Given the description of an element on the screen output the (x, y) to click on. 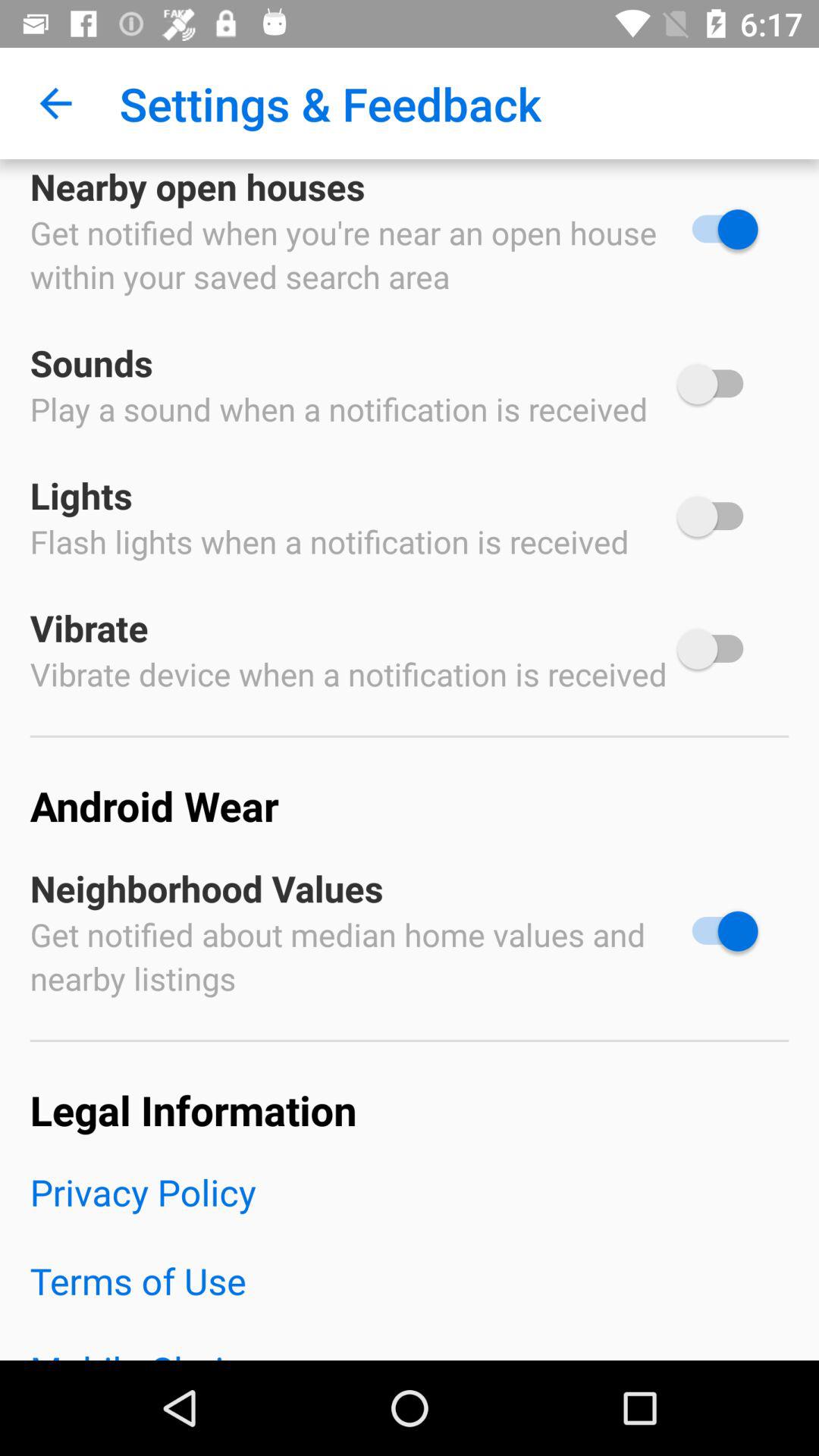
launch the item below terms of use icon (409, 1352)
